Given the description of an element on the screen output the (x, y) to click on. 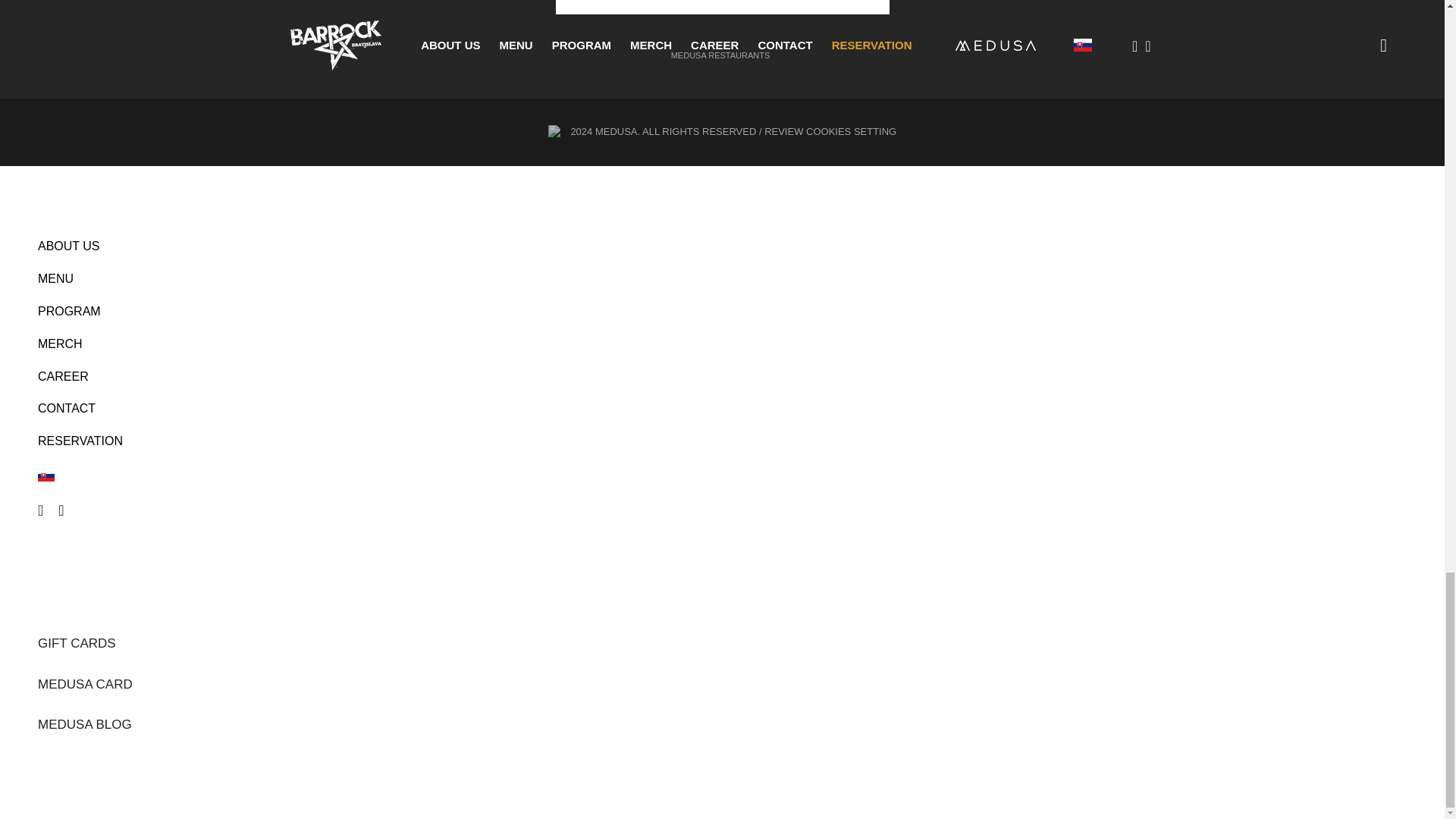
ABOUT US (721, 246)
CONTACT (721, 409)
MENU (721, 278)
RESERVATION (721, 441)
GIFT CARDS (76, 643)
CAREER (721, 377)
MERCH (721, 344)
REVIEW COOKIES SETTING (830, 131)
MEDUSA CARD (84, 684)
PROGRAM (721, 311)
